Given the description of an element on the screen output the (x, y) to click on. 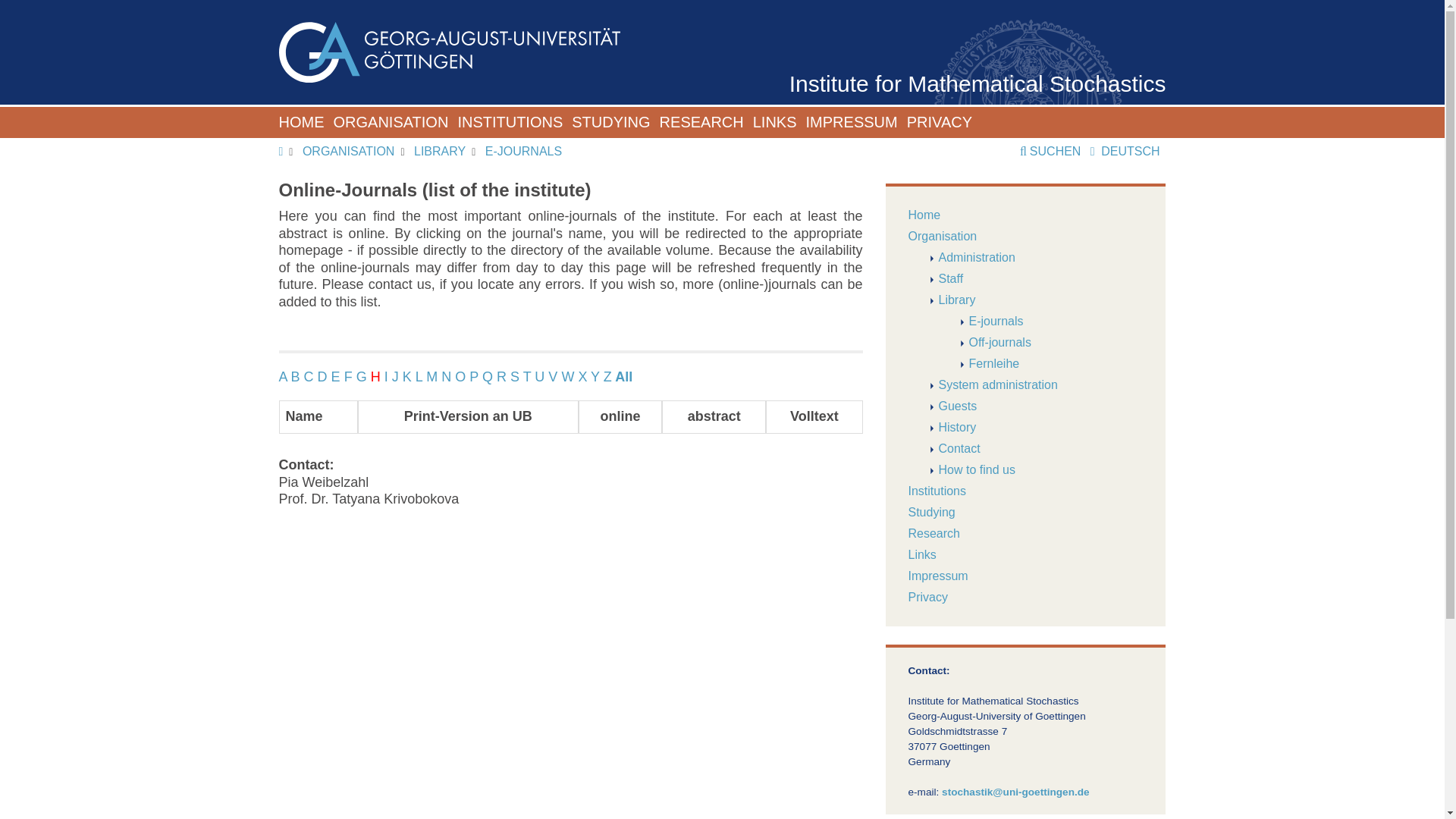
IMPRESSUM (852, 122)
ORGANISATION (390, 122)
RESEARCH (701, 122)
LINKS (774, 122)
Institute for Mathematical Stochastics (977, 83)
INSTITUTIONS (509, 122)
STUDYING (610, 122)
PRIVACY (939, 122)
HOME (301, 122)
